Given the description of an element on the screen output the (x, y) to click on. 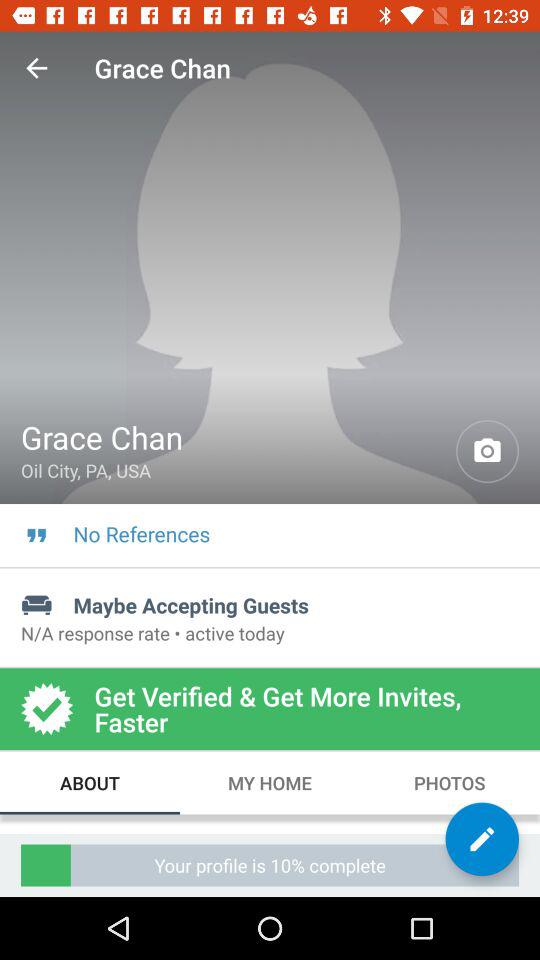
press the icon on the right (487, 451)
